Given the description of an element on the screen output the (x, y) to click on. 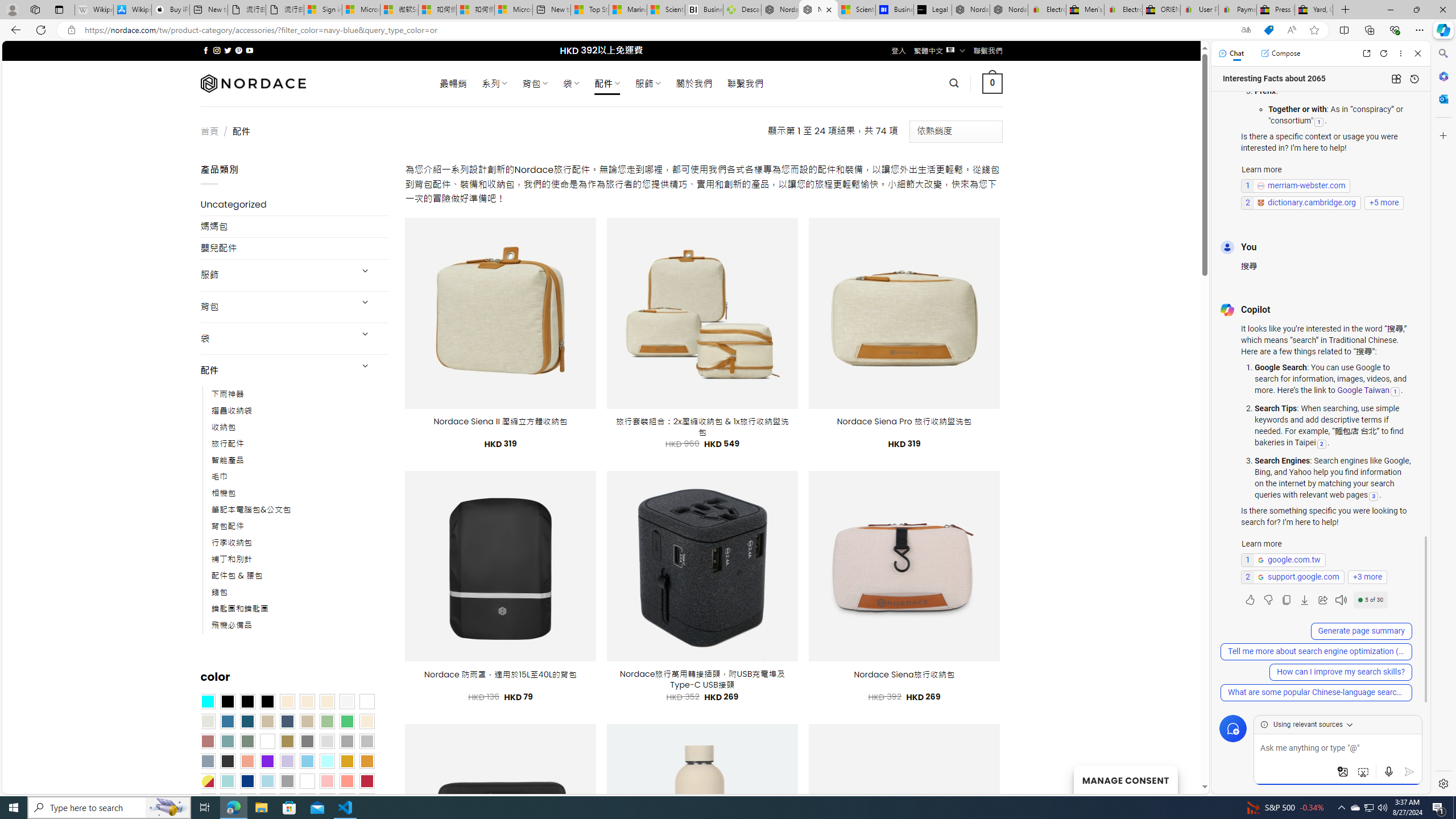
Follow on YouTube (249, 50)
Follow on Twitter (227, 50)
